Given the description of an element on the screen output the (x, y) to click on. 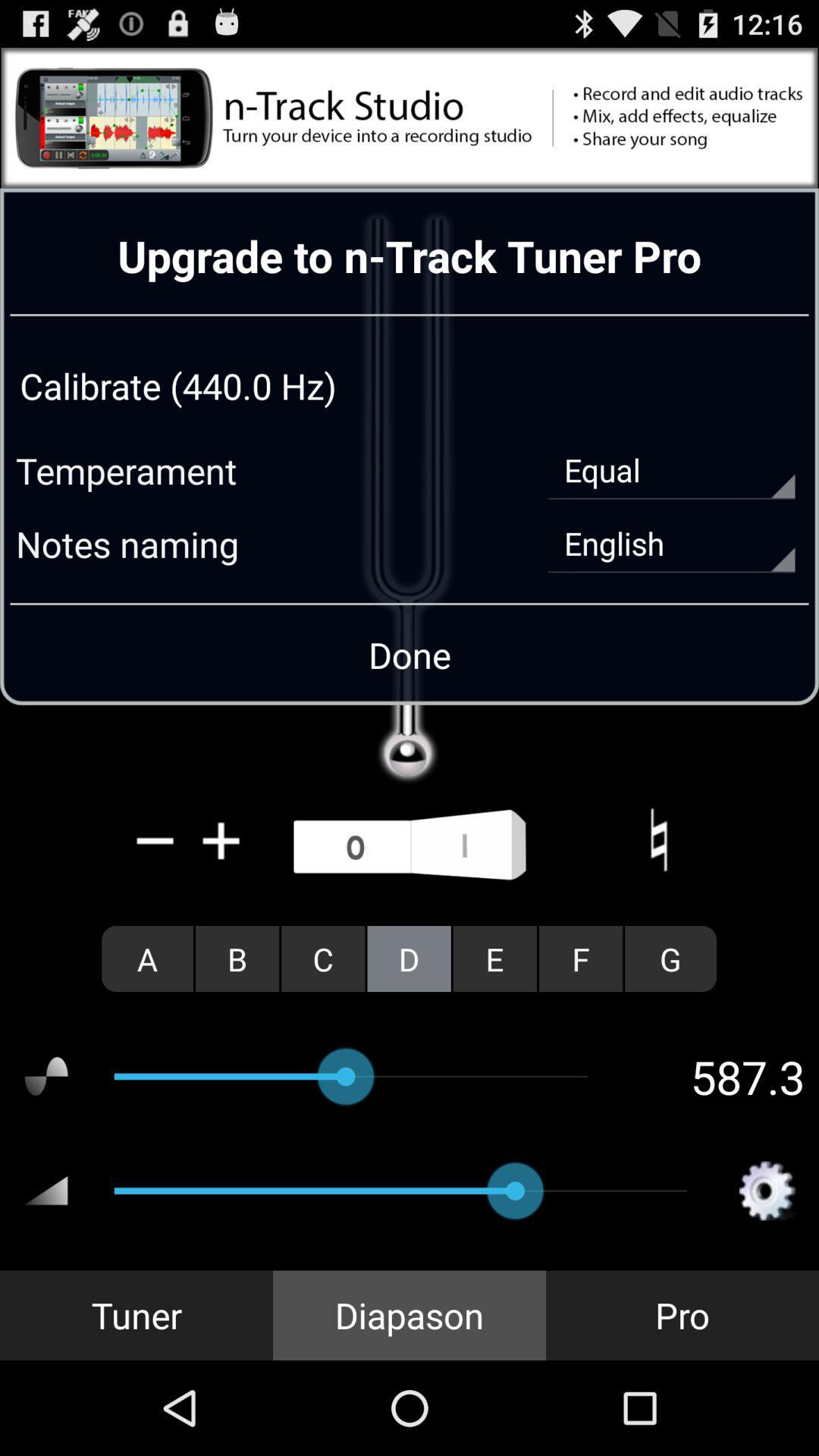
choose icon next to d icon (494, 958)
